Given the description of an element on the screen output the (x, y) to click on. 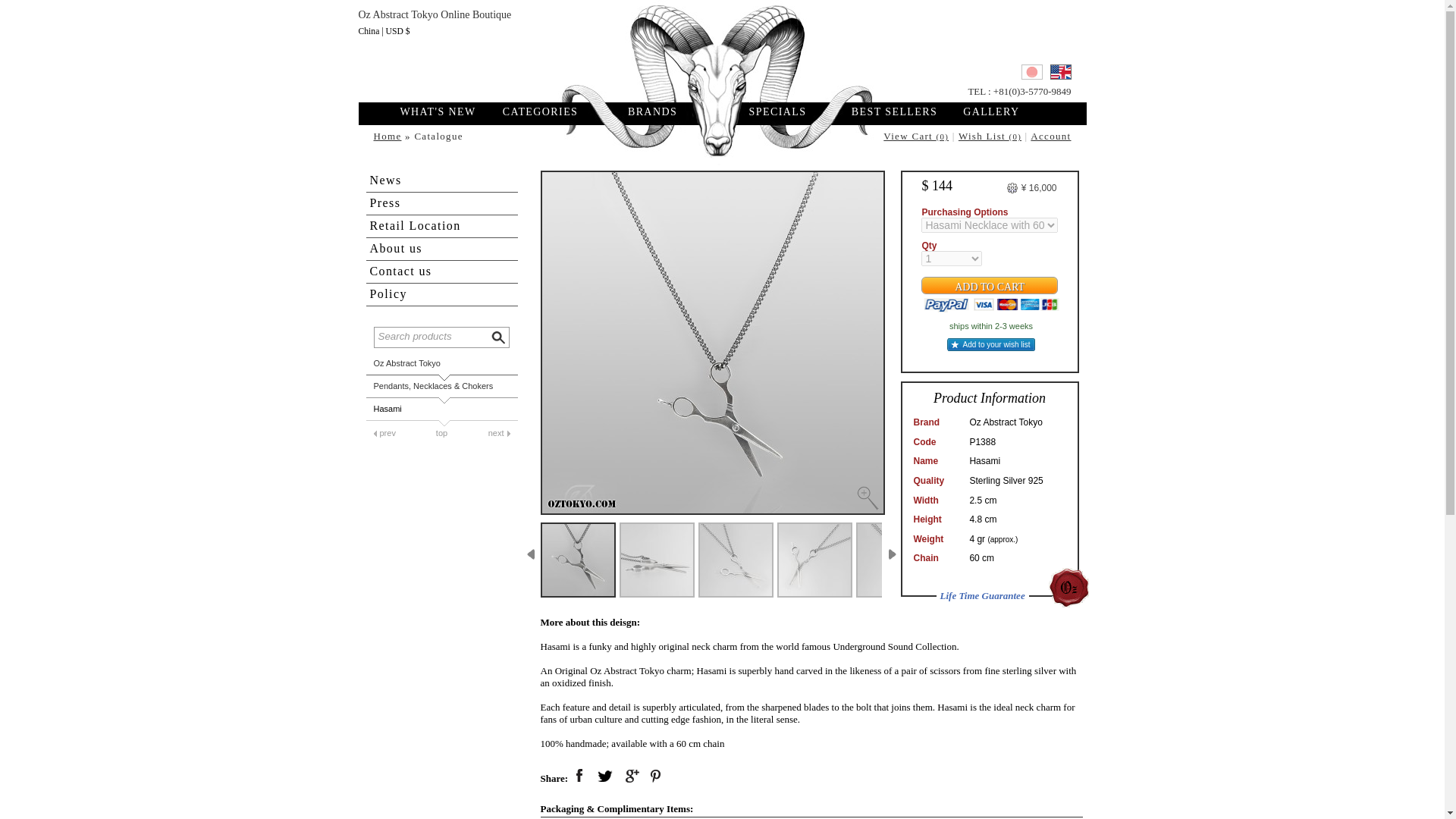
CATEGORIES (540, 112)
BRANDS (652, 112)
Tweet about it (604, 775)
Add on your Pinterest (656, 775)
WHAT'S NEW (446, 112)
Post on Facebook (579, 775)
Oz Abstract Tokyo Online Boutique (721, 49)
